Given the description of an element on the screen output the (x, y) to click on. 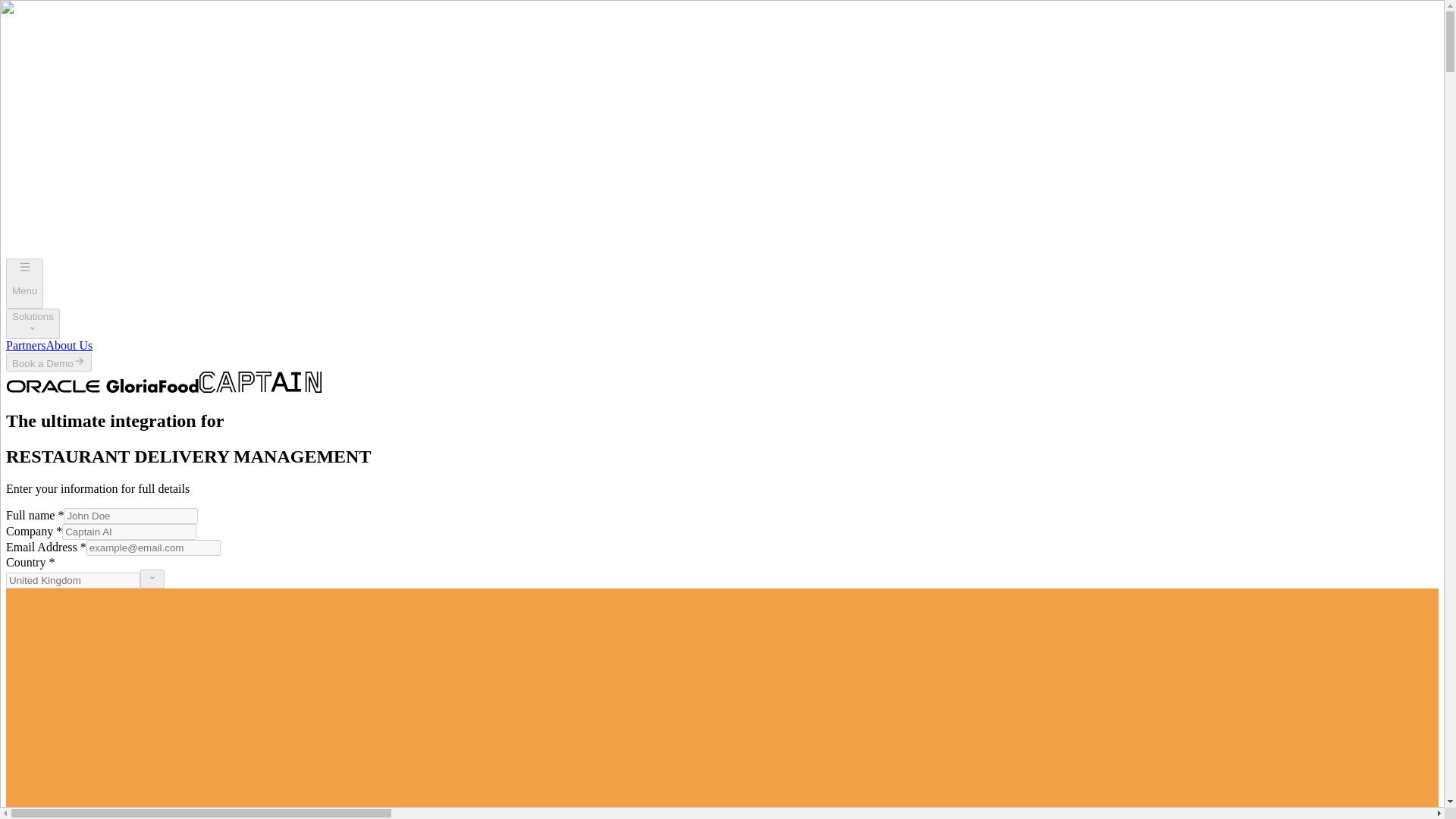
Solutions (32, 323)
Partners (25, 345)
Book a Demo (48, 361)
About Us (69, 345)
